Given the description of an element on the screen output the (x, y) to click on. 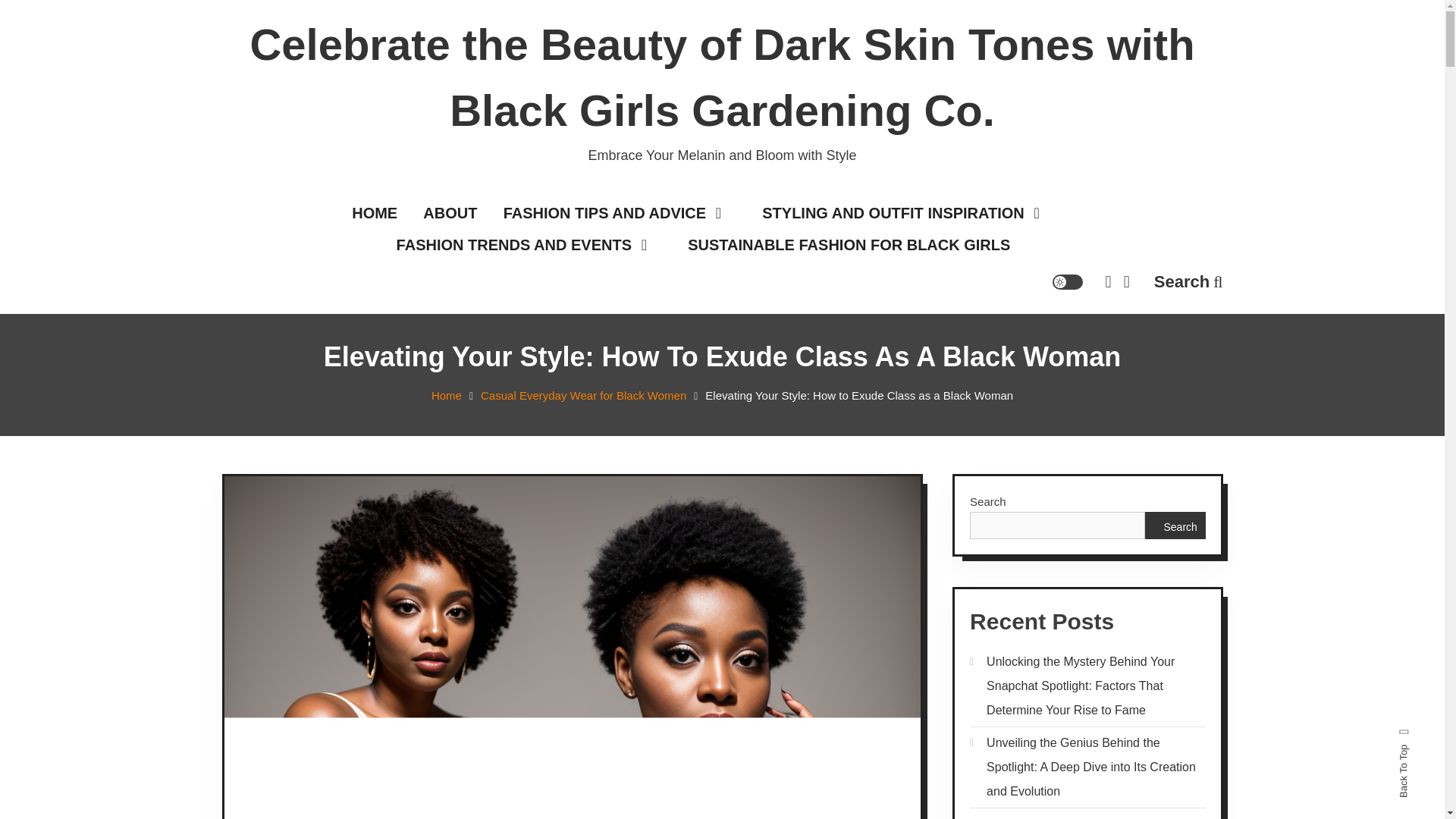
site mode button (1067, 281)
Search (768, 432)
FASHION TRENDS AND EVENTS (529, 245)
SUSTAINABLE FASHION FOR BLACK GIRLS (848, 245)
FASHION TIPS AND ADVICE (619, 214)
ABOUT (450, 214)
Home (445, 395)
Search (1188, 281)
STYLING AND OUTFIT INSPIRATION (907, 214)
